Given the description of an element on the screen output the (x, y) to click on. 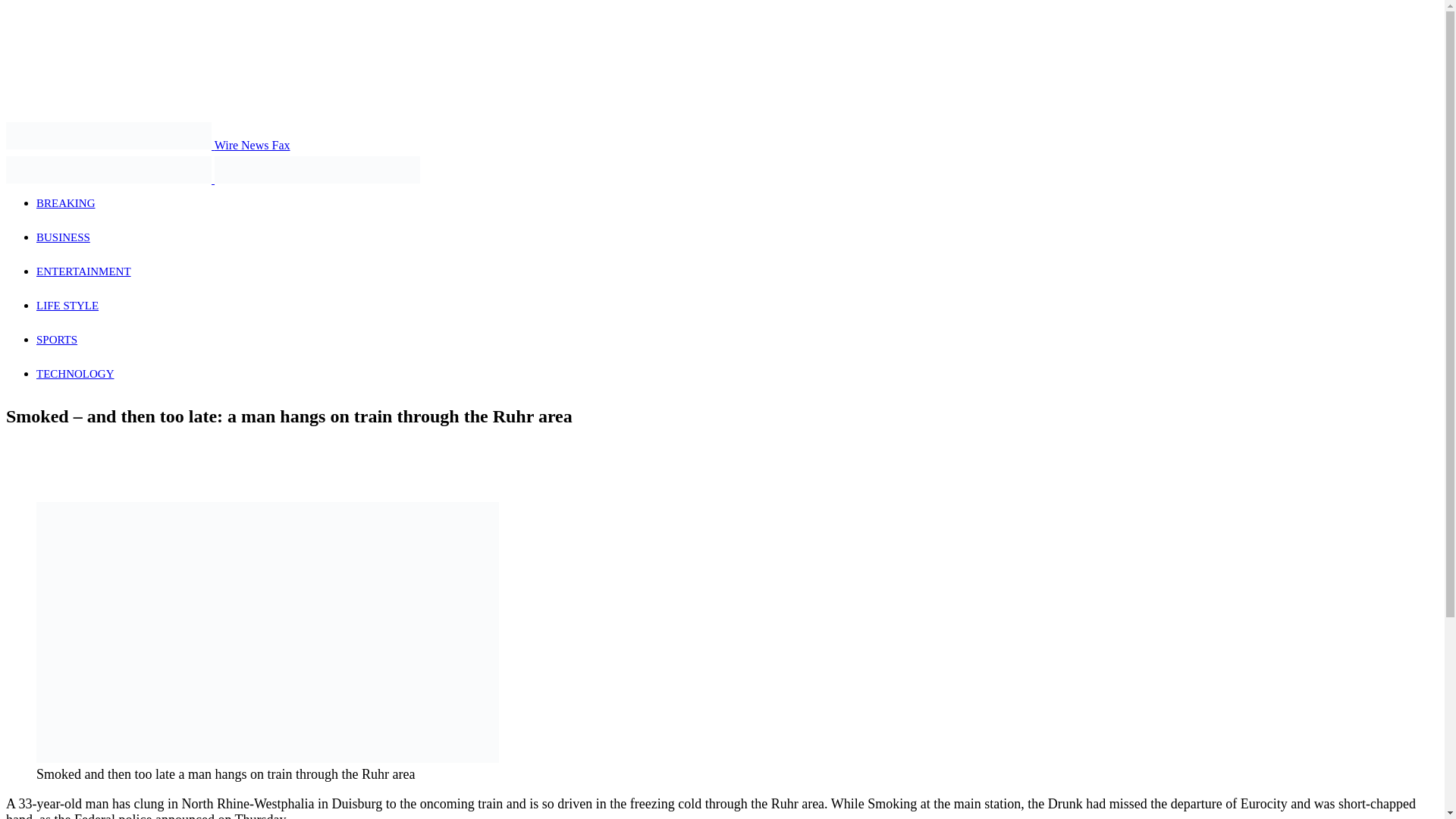
TECHNOLOGY (75, 373)
Your Fastest Source for Reliable News (108, 135)
BUSINESS (63, 236)
BREAKING (66, 203)
Your Fastest Source for Reliable News (108, 169)
SPORTS (56, 339)
LIFE STYLE (67, 305)
ENTERTAINMENT (83, 271)
Your Fastest Source for Reliable News (317, 169)
Wire News Fax (147, 144)
